Given the description of an element on the screen output the (x, y) to click on. 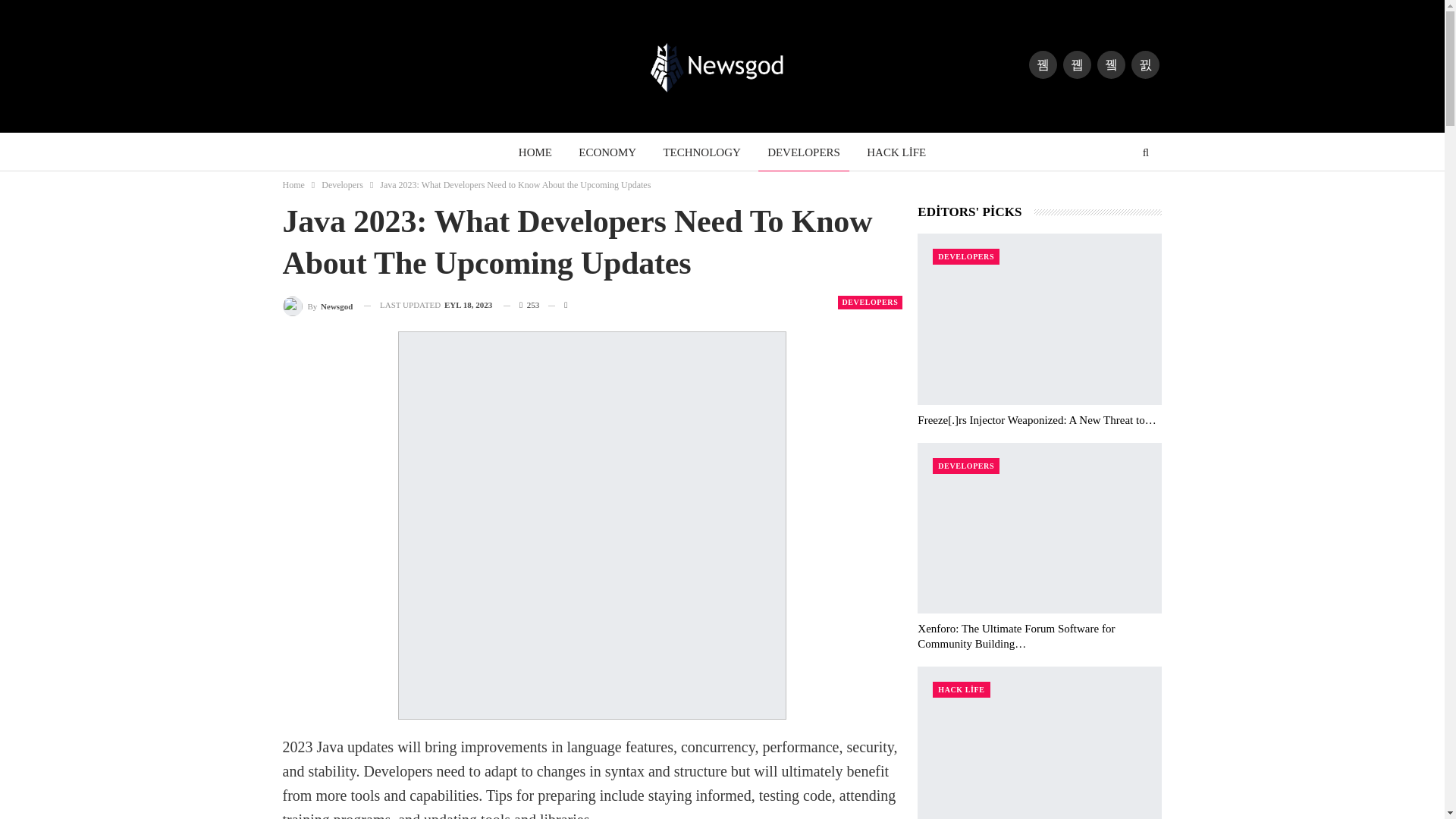
Browse Author Articles (317, 304)
By Newsgod (317, 304)
ECONOMY (607, 152)
Home (293, 184)
HOME (534, 152)
HACK LIFE (895, 152)
TECHNOLOGY (701, 152)
DEVELOPERS (803, 152)
DEVELOPERS (869, 302)
Developers (341, 184)
